Given the description of an element on the screen output the (x, y) to click on. 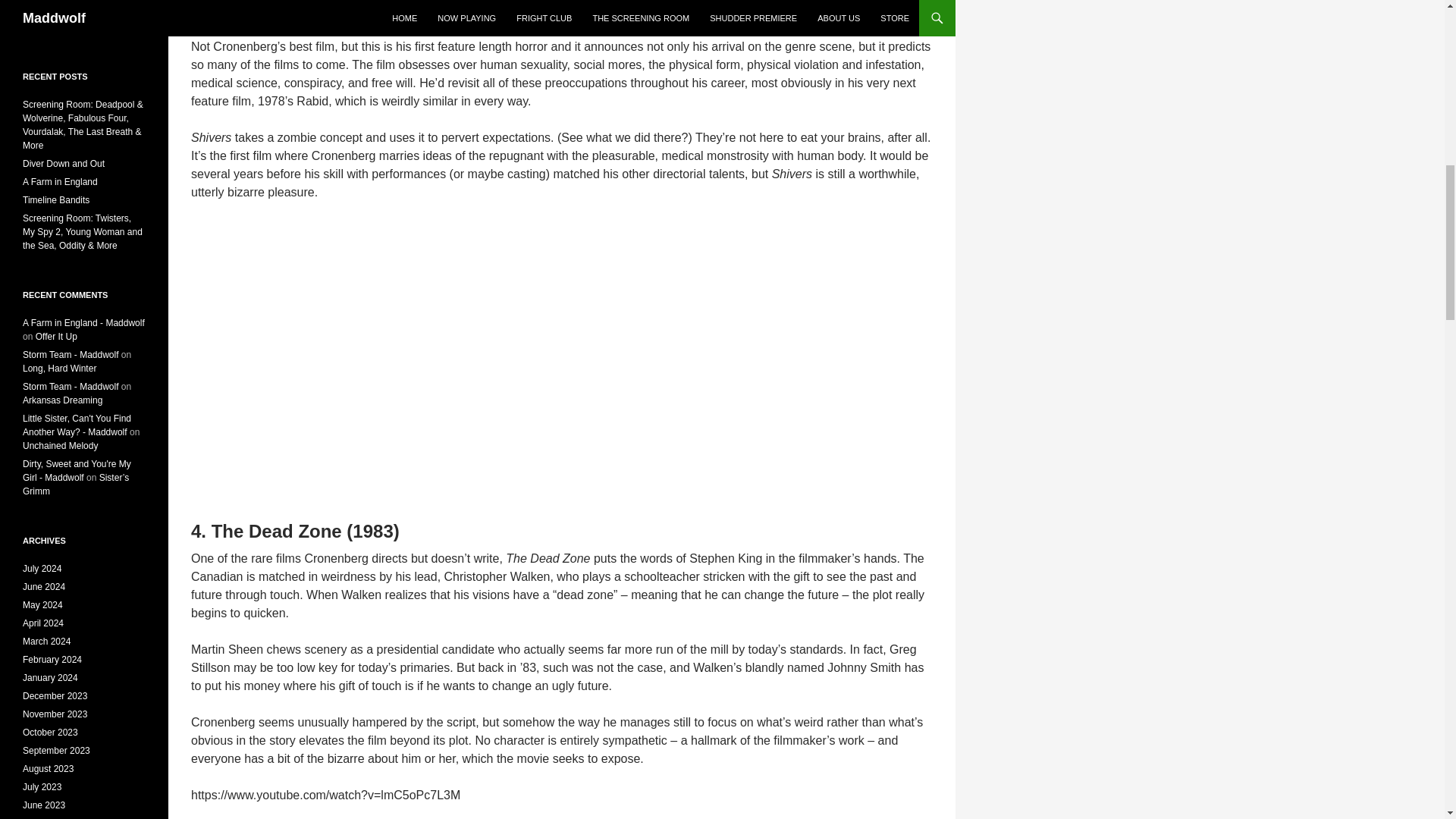
Diver Down and Out (63, 163)
Banners for Top 20 Movie Blogs (84, 19)
